Given the description of an element on the screen output the (x, y) to click on. 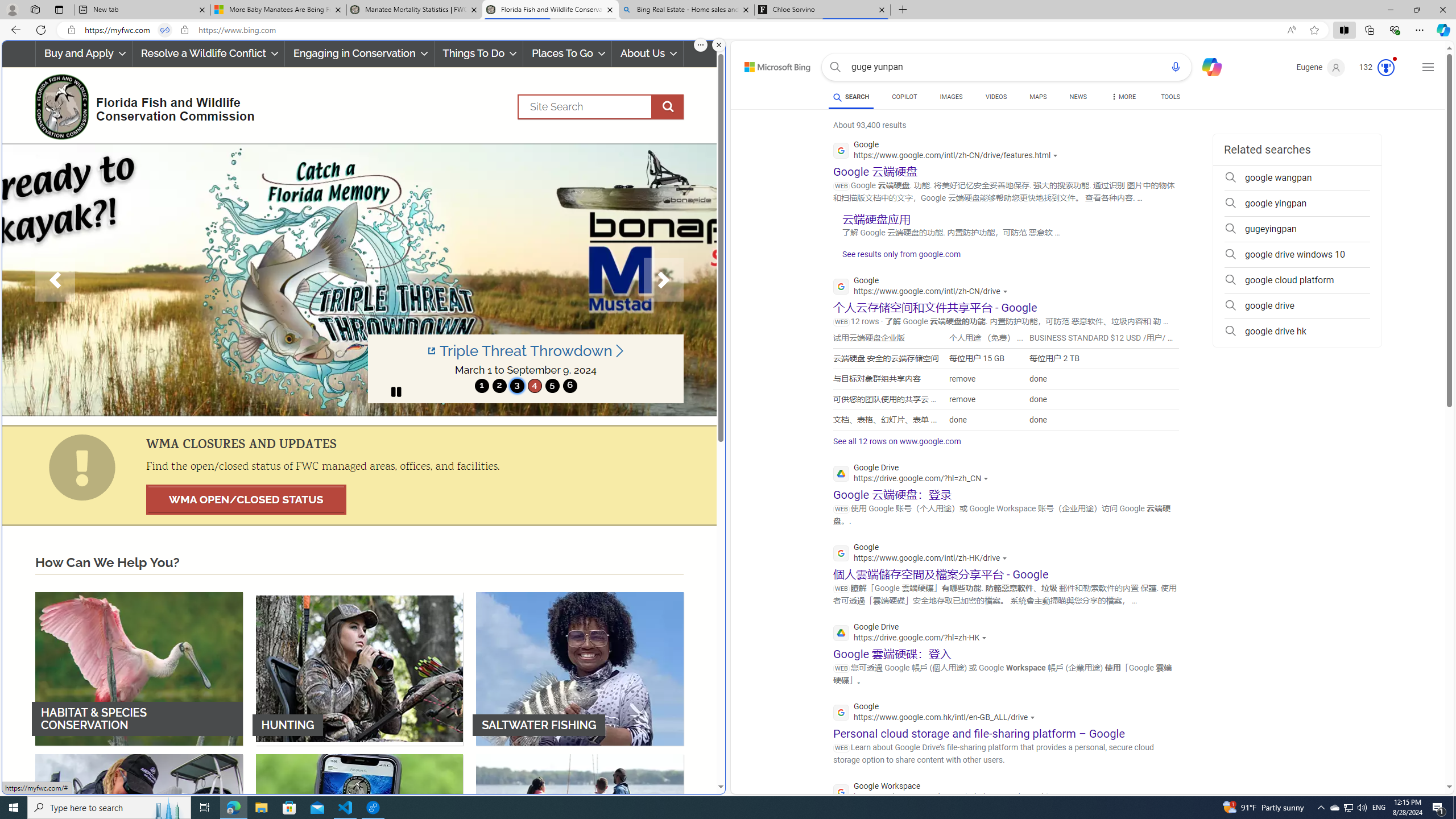
Chat (1207, 65)
Resolve a Wildlife Conflict (208, 53)
AutomationID: mfa_root (1406, 752)
google cloud platform (1297, 280)
Engaging in Conservation (358, 53)
Read aloud this page (Ctrl+Shift+U) (1291, 29)
SEARCH (850, 96)
move to slide 4 (534, 385)
Microsoft Rewards 123 (1377, 67)
2 (499, 385)
Split screen (1344, 29)
Back to Bing search (770, 64)
